Given the description of an element on the screen output the (x, y) to click on. 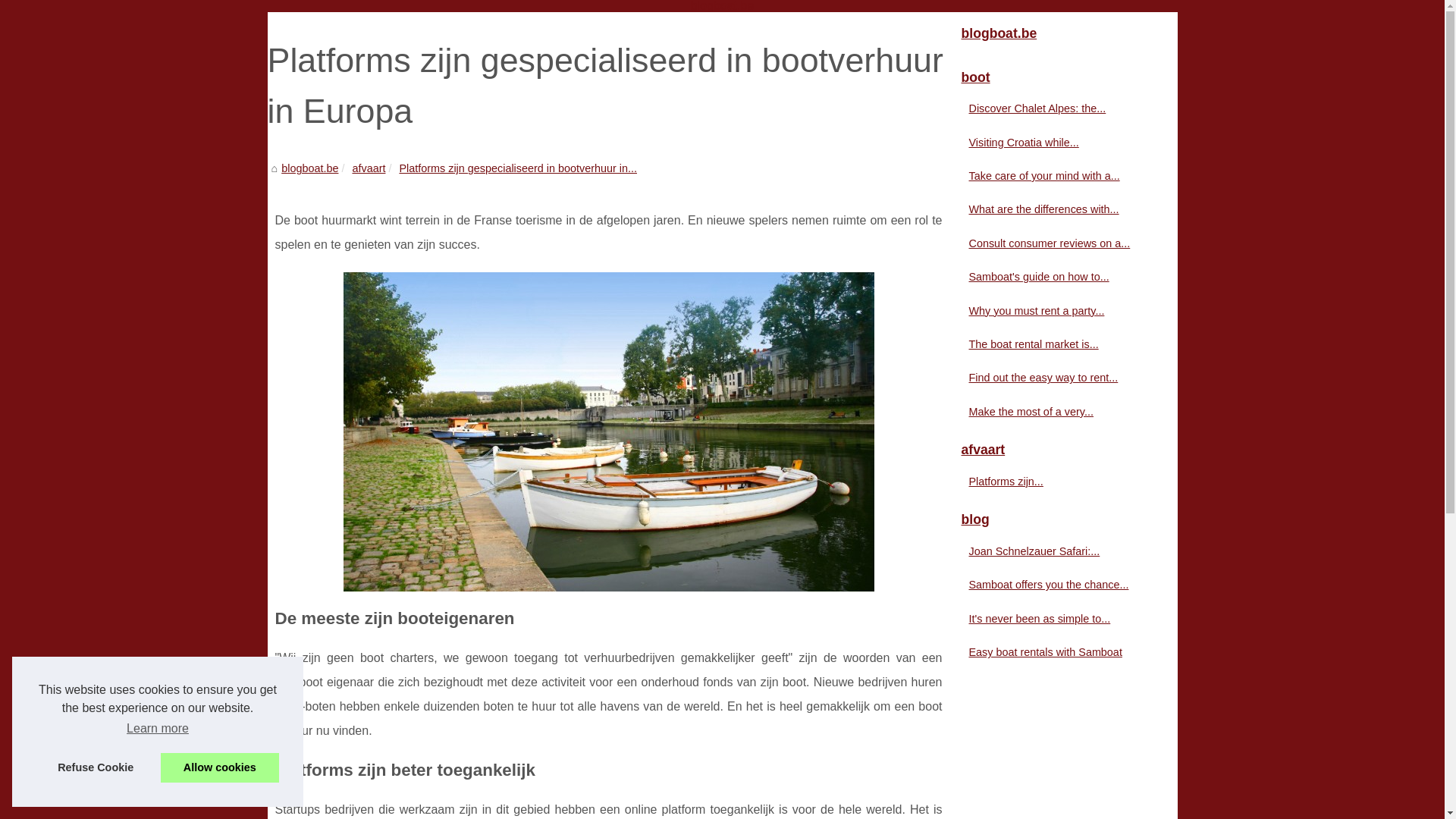
Platforms zijn... Element type: text (1055, 481)
Platforms zijn gespecialiseerd in bootverhuur in... Element type: text (517, 168)
Allow cookies Element type: text (219, 767)
blog Element type: text (1063, 519)
Make the most of a very... Element type: text (1055, 411)
Joan Schnelzauer Safari:... Element type: text (1055, 551)
Consult consumer reviews on a... Element type: text (1055, 243)
afvaart Element type: text (1063, 450)
Take care of your mind with a... Element type: text (1055, 175)
It's never been as simple to... Element type: text (1055, 618)
Visiting Croatia while... Element type: text (1055, 142)
blogboat.be Element type: text (309, 168)
Discover Chalet Alpes: the... Element type: text (1055, 108)
Easy boat rentals with Samboat Element type: text (1055, 652)
Learn more Element type: text (157, 728)
Samboat offers you the chance... Element type: text (1055, 584)
Why you must rent a party... Element type: text (1055, 310)
boot Element type: text (1063, 77)
Refuse Cookie Element type: text (95, 767)
Samboat's guide on how to... Element type: text (1055, 276)
The boat rental market is... Element type: text (1055, 344)
blogboat.be Element type: text (1063, 33)
What are the differences with... Element type: text (1055, 209)
Find out the easy way to rent... Element type: text (1055, 377)
afvaart Element type: text (368, 168)
